Given the description of an element on the screen output the (x, y) to click on. 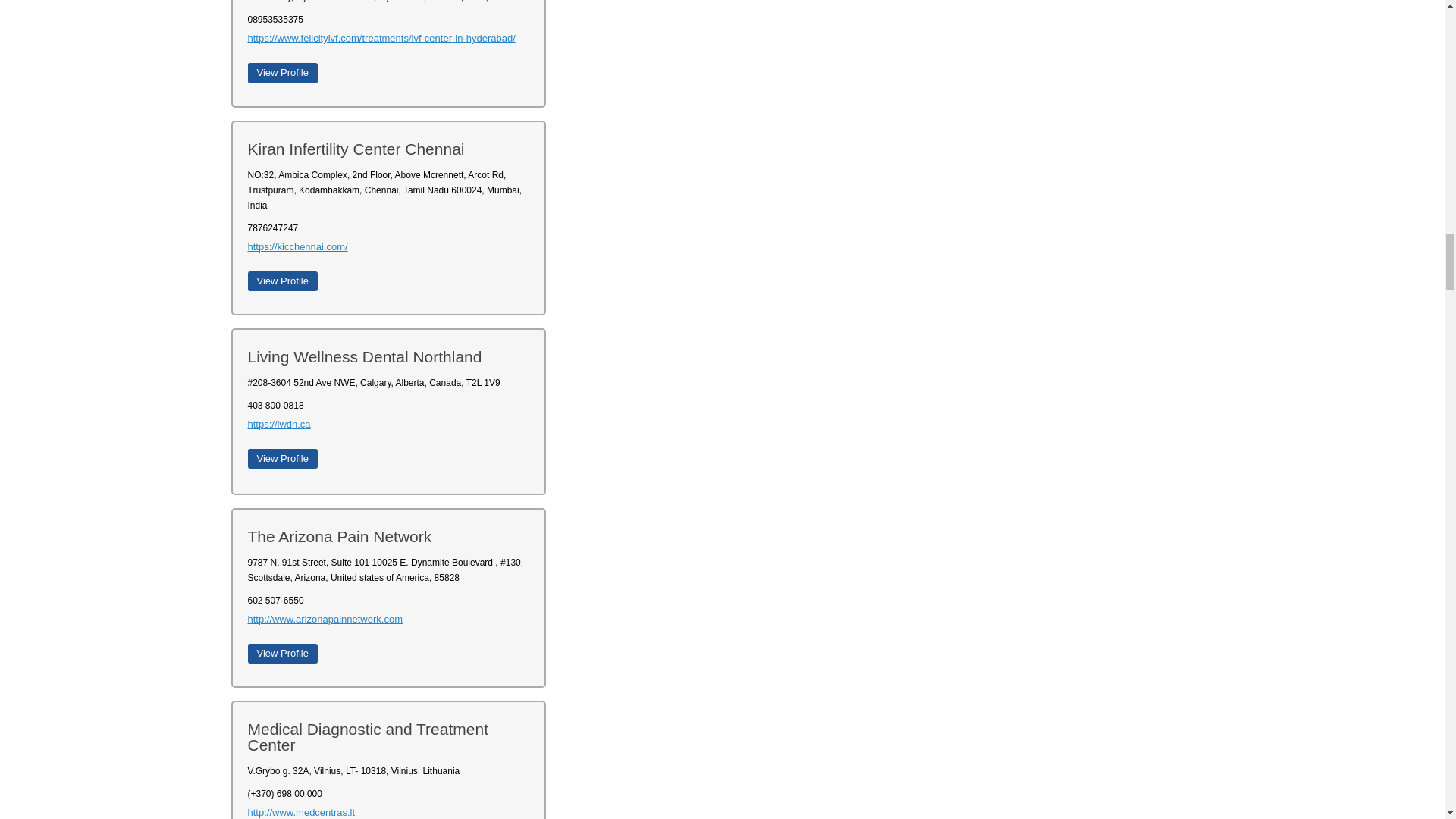
Click here to view profile (282, 653)
Click here to view profile (282, 281)
Click here to view profile (282, 72)
Click here to view profile (282, 458)
